Given the description of an element on the screen output the (x, y) to click on. 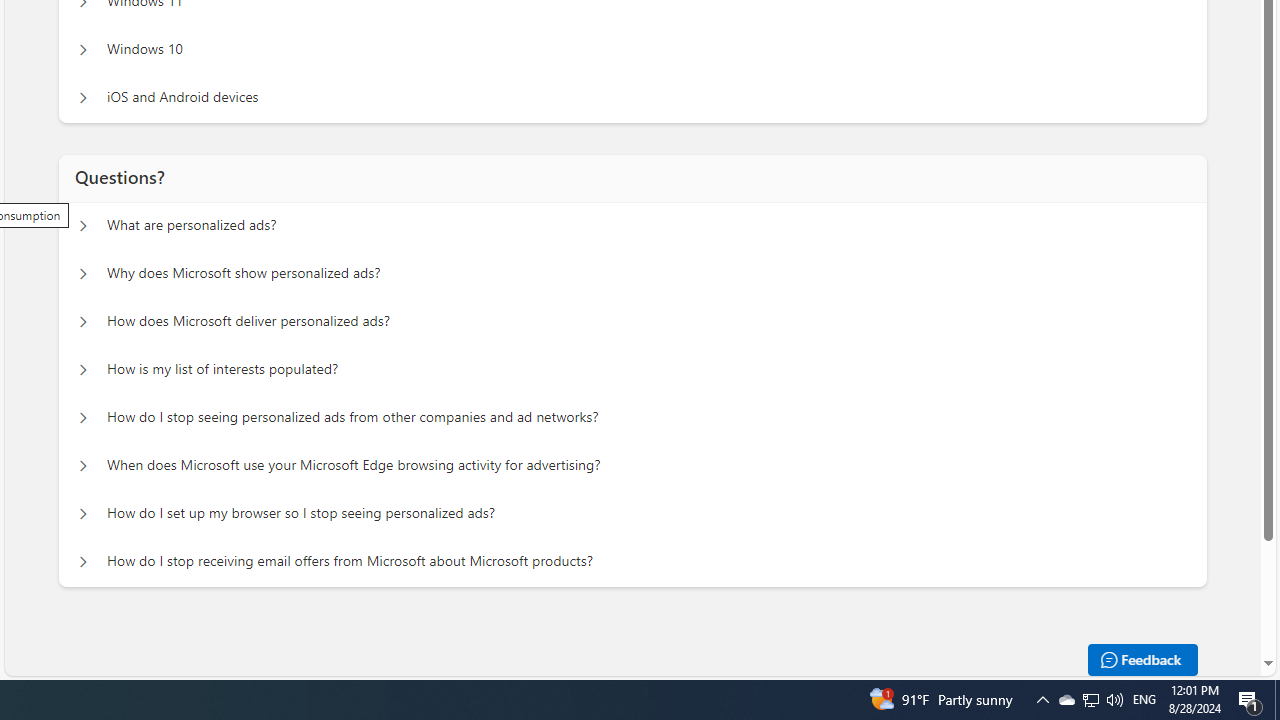
Manage personalized ads on your device Windows 10 (82, 49)
